Given the description of an element on the screen output the (x, y) to click on. 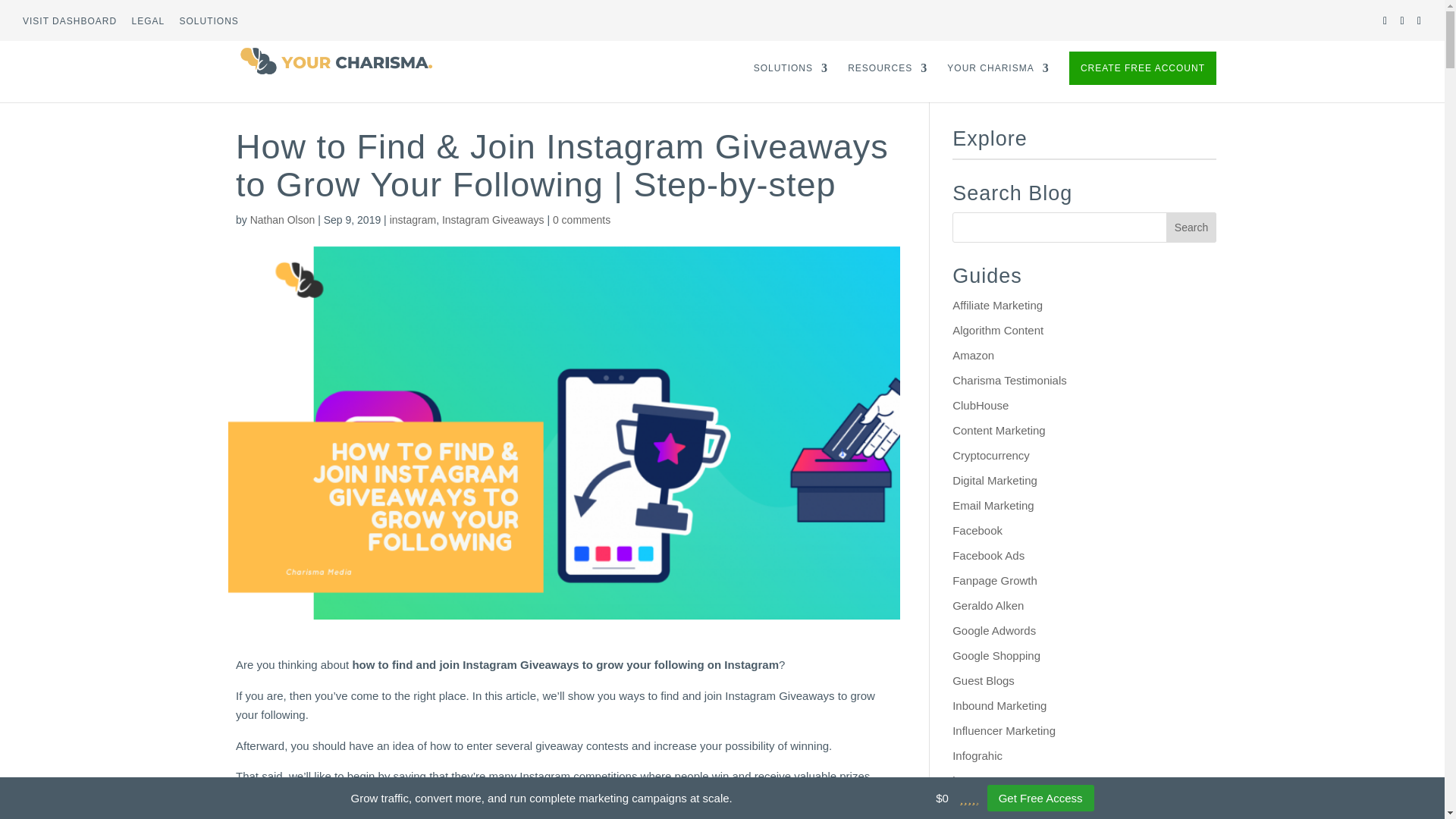
instagram (412, 219)
0 comments (581, 219)
Search (1190, 227)
RESOURCES (887, 82)
SOLUTIONS (791, 82)
CREATE FREE ACCOUNT (1141, 68)
VISIT DASHBOARD (69, 24)
Instagram Giveaways (493, 219)
YOUR CHARISMA (997, 82)
LEGAL (147, 24)
Posts by Nathan Olson (282, 219)
SOLUTIONS (208, 24)
Nathan Olson (282, 219)
